Given the description of an element on the screen output the (x, y) to click on. 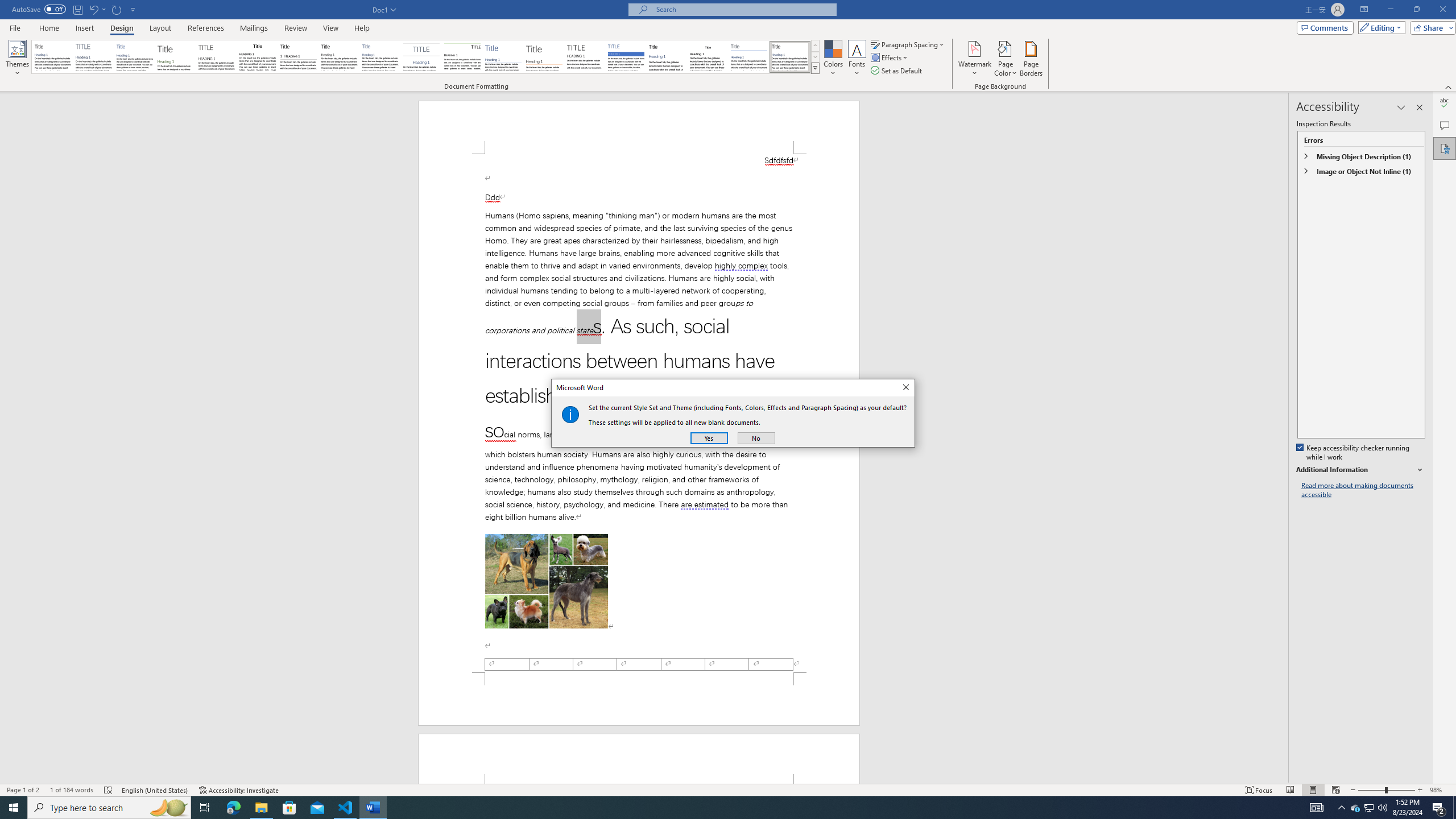
Minimalist (584, 56)
Word 2010 (749, 56)
Lines (Simple) (503, 56)
Word - 1 running window (373, 807)
